Given the description of an element on the screen output the (x, y) to click on. 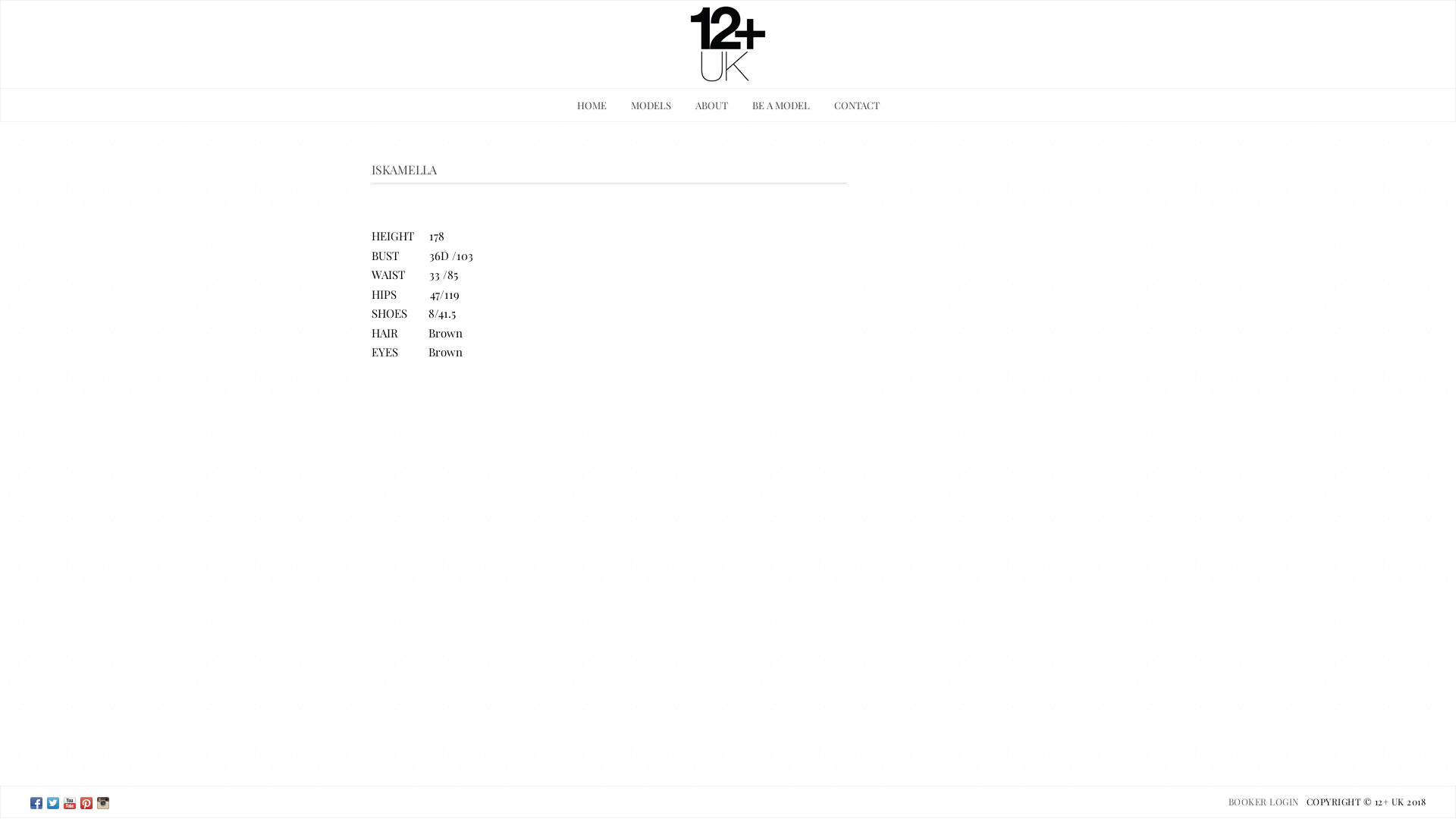
HOME Element type: text (590, 104)
BE A MODEL Element type: text (780, 104)
Twitter Element type: hover (53, 804)
ABOUT Element type: text (710, 104)
MODELS Element type: text (650, 104)
BOOKER LOGIN Element type: text (1263, 800)
12+ UK Element type: hover (103, 804)
CONTACT Element type: text (856, 104)
12+ UK Element type: hover (36, 804)
